Given the description of an element on the screen output the (x, y) to click on. 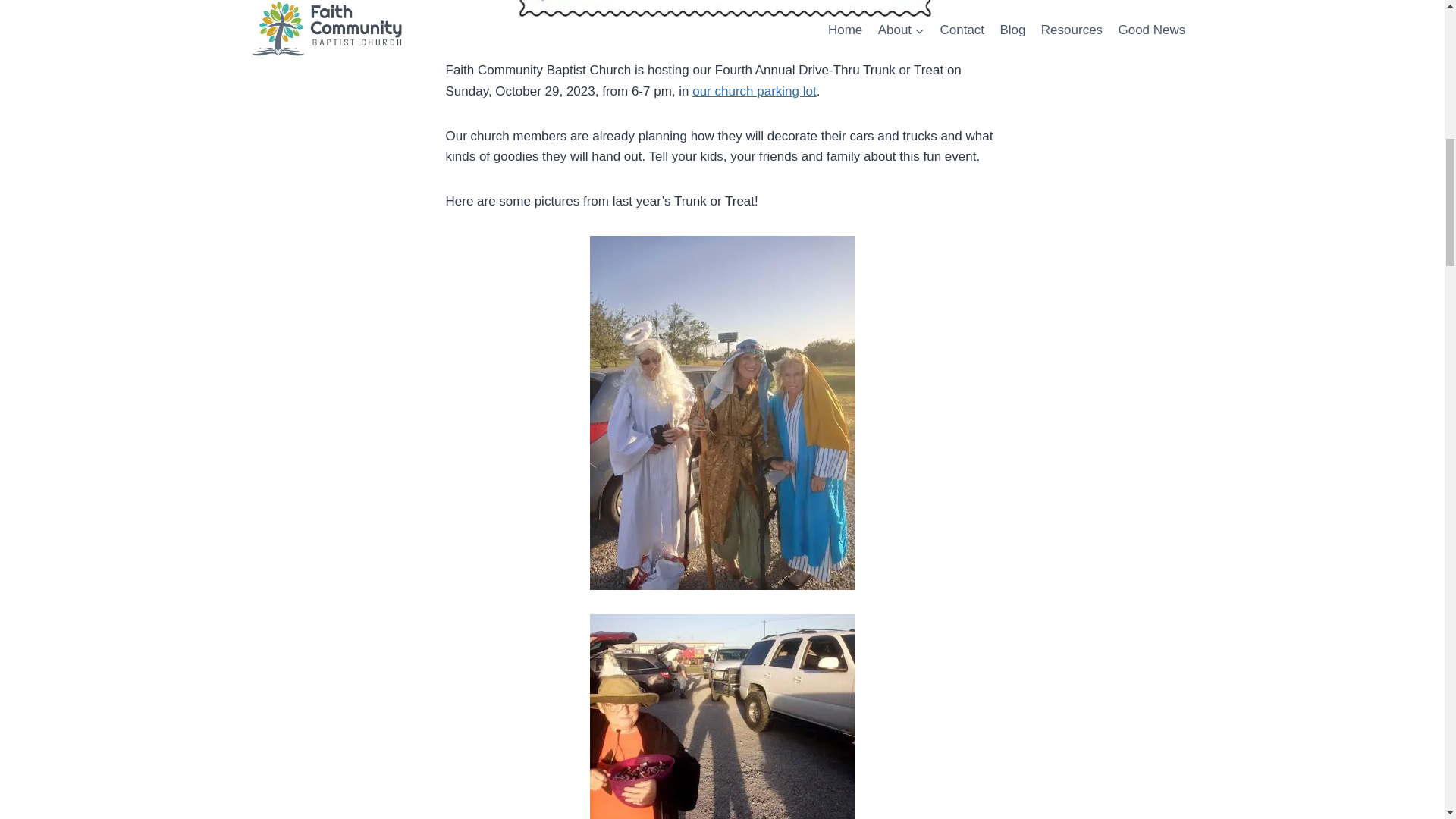
our church parking lot (754, 91)
